Given the description of an element on the screen output the (x, y) to click on. 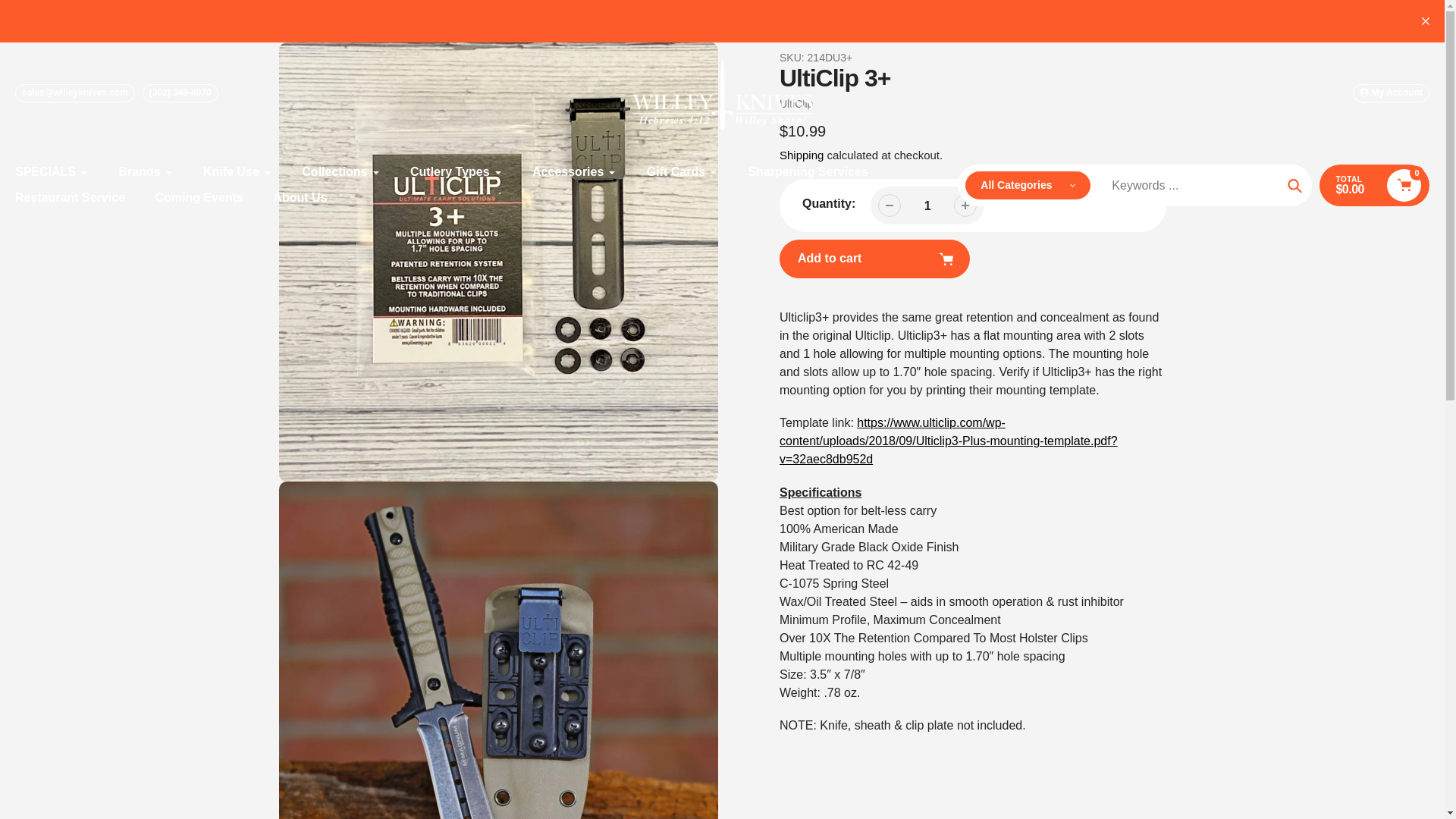
My Account (1390, 93)
1 (927, 205)
Brands (145, 171)
Template Link (948, 441)
SPECIALS (51, 171)
UltiClip (795, 102)
